Given the description of an element on the screen output the (x, y) to click on. 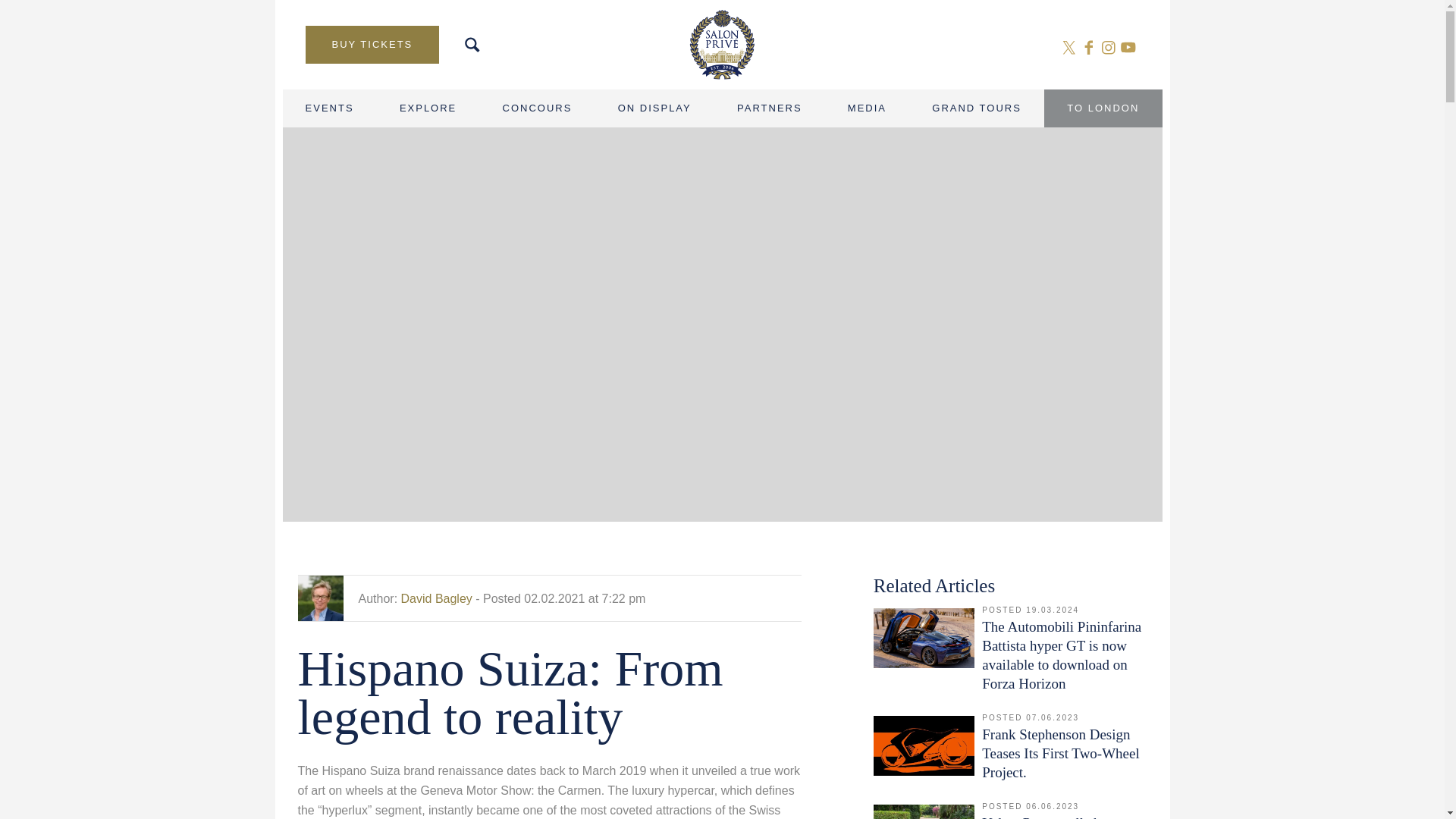
BUY TICKETS (371, 44)
EVENTS (328, 107)
EXPLORE (427, 107)
